Given the description of an element on the screen output the (x, y) to click on. 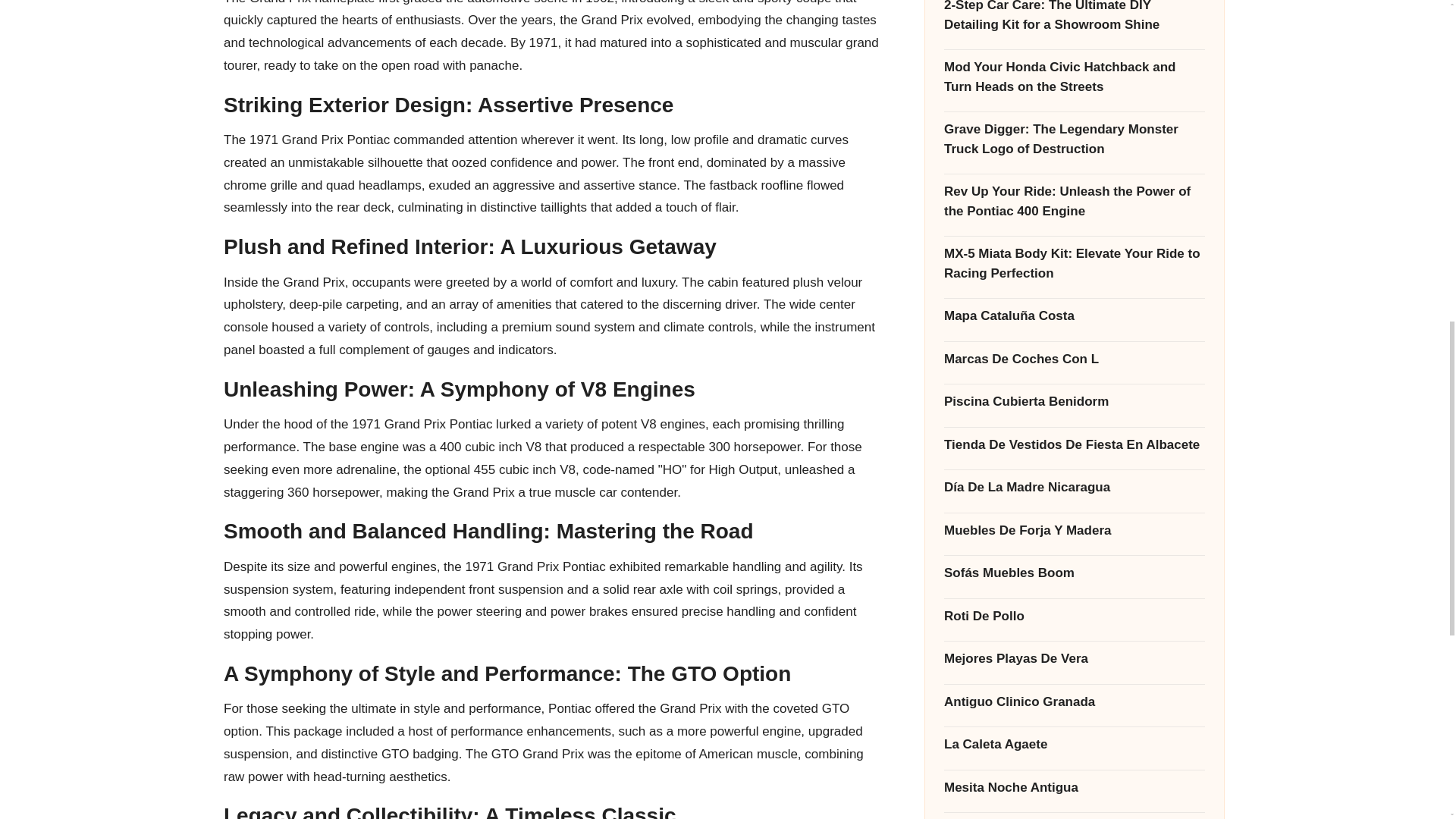
Piscina Cubierta Benidorm (1074, 103)
Roti De Pollo (1074, 317)
La Caleta Agaete (1074, 446)
Antiguo Clinico Granada (1074, 403)
Tienda De Vestidos De Fiesta En Albacete (1074, 146)
Muebles De Forja Y Madera (1074, 232)
Alquiler Trajes Hombre Zaragoza (1074, 532)
Mejores Playas De Vera (1074, 361)
Mesita Noche Antigua (1074, 488)
Marcas De Coches Con L (1074, 61)
Yunque De Platero (1074, 575)
